Given the description of an element on the screen output the (x, y) to click on. 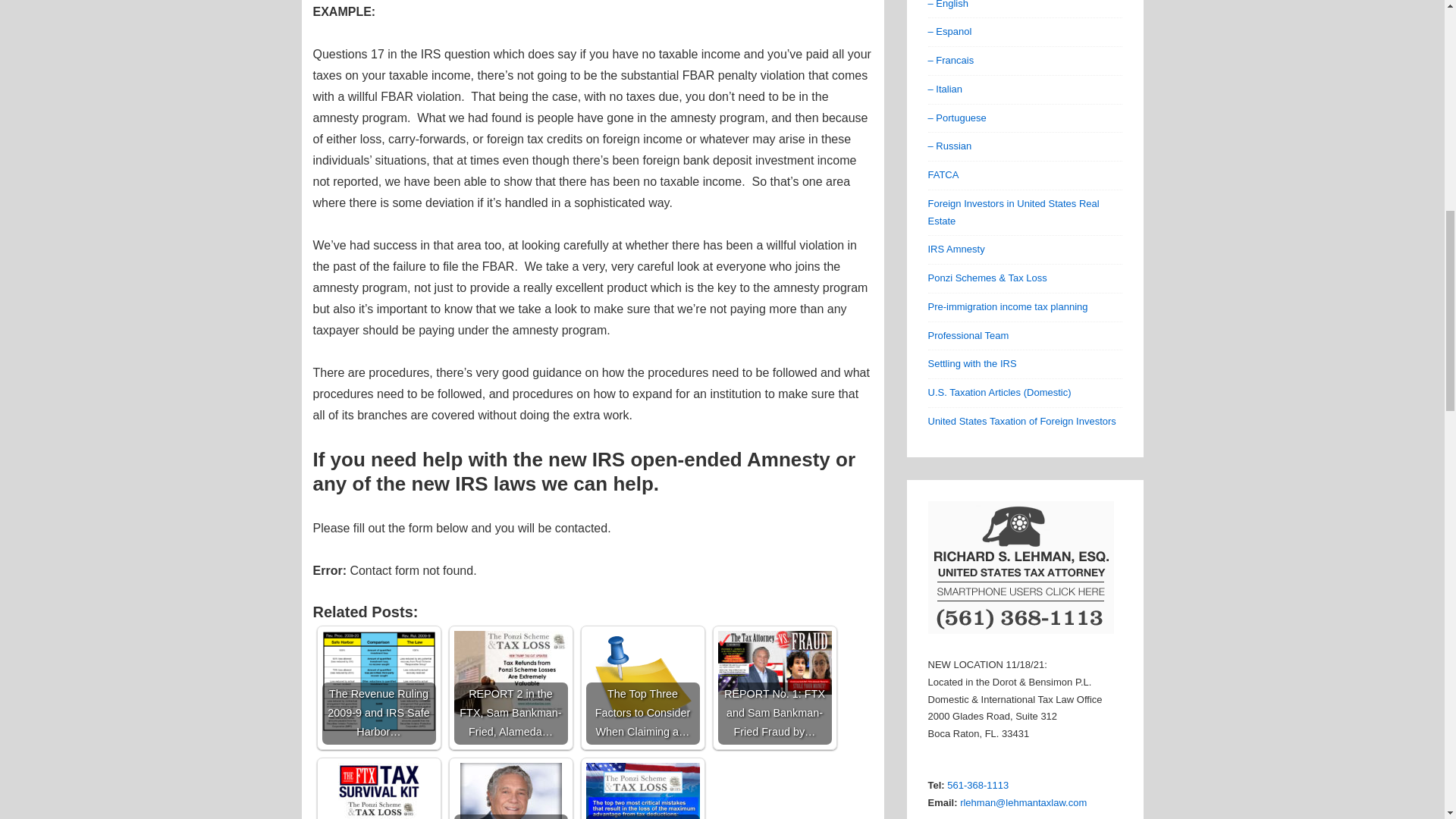
Telephone (978, 785)
FTX Crypto Fraud Victims Could Qualify For Tax Refunds (641, 790)
FTX Crypto Fraud Victims Could Qualify For Tax Refunds (641, 790)
FTX Tax Survival Kit (378, 790)
FTX Tax Survival Kit (378, 790)
